Given the description of an element on the screen output the (x, y) to click on. 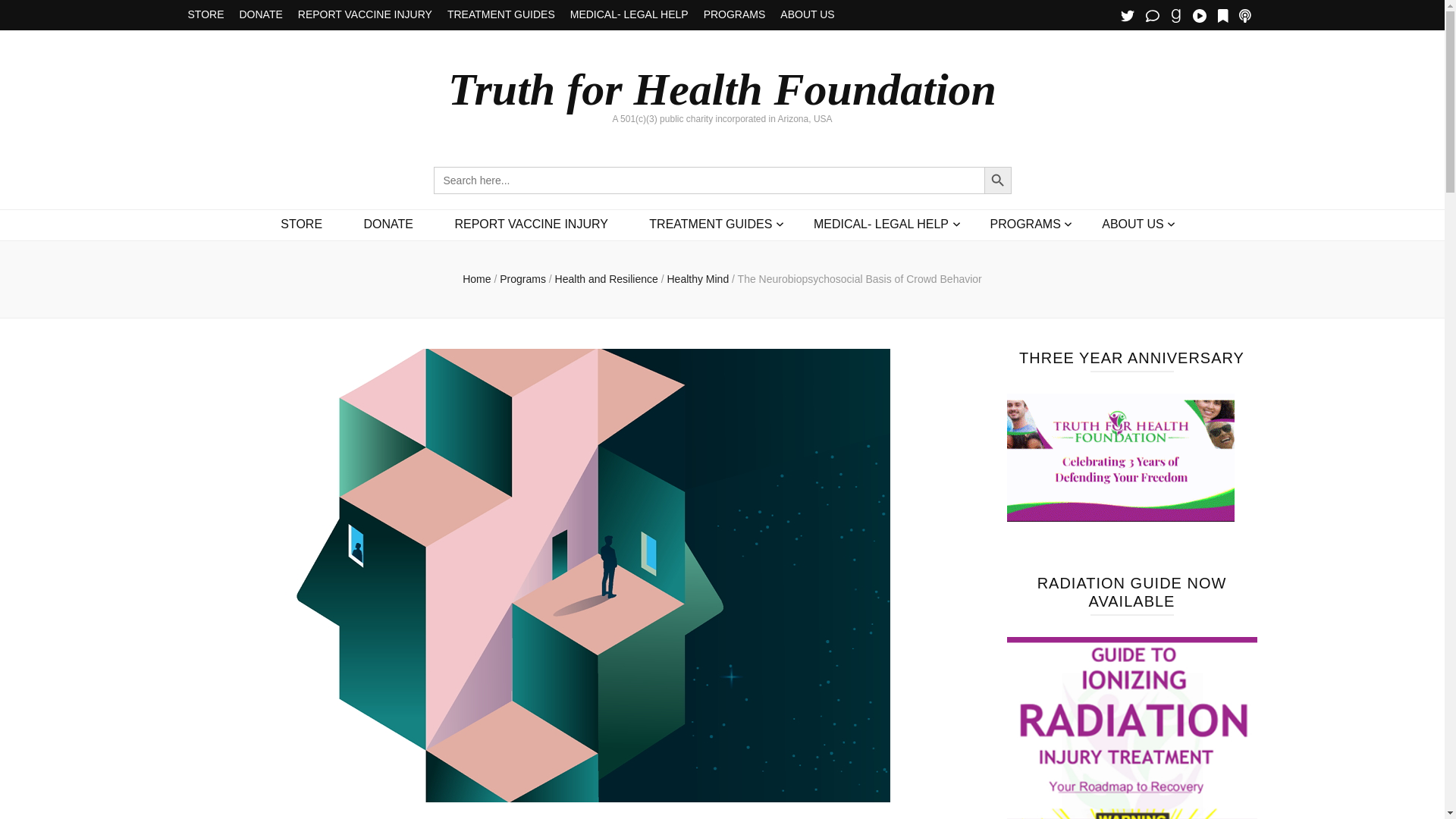
MEDICAL- LEGAL HELP (629, 15)
ABOUT US (807, 15)
Radiation Guide Now Available (1132, 728)
STORE (205, 15)
TREATMENT GUIDES (500, 15)
PROGRAMS (734, 15)
REPORT VACCINE INJURY (365, 15)
DONATE (260, 15)
